Given the description of an element on the screen output the (x, y) to click on. 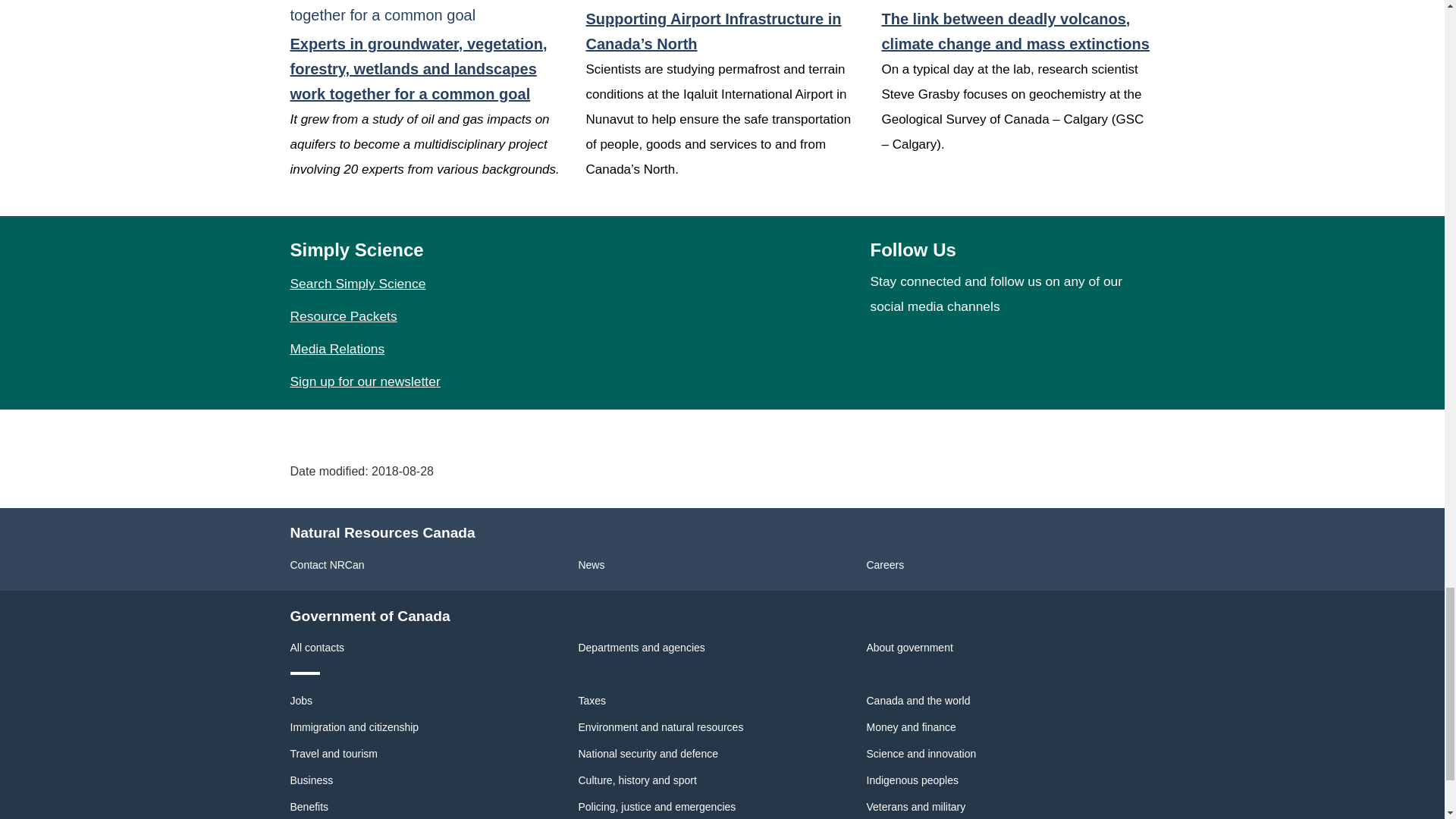
Sign up for our newsletter (364, 381)
Media Relations (336, 348)
Search Simply Science (357, 283)
Resource Packets (342, 315)
